Given the description of an element on the screen output the (x, y) to click on. 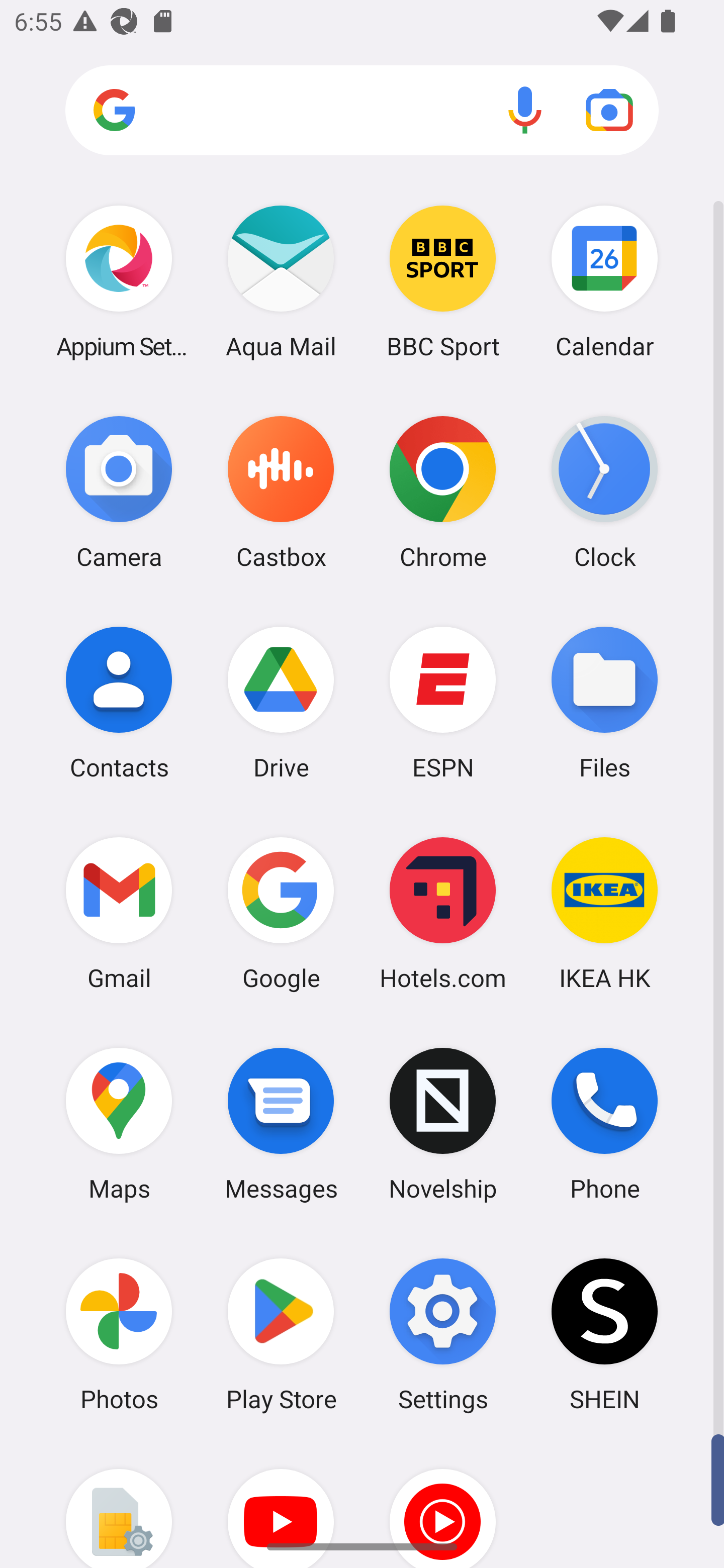
Search apps, web and more (361, 110)
Voice search (524, 109)
Google Lens (608, 109)
Appium Settings (118, 281)
Aqua Mail (280, 281)
BBC Sport (443, 281)
Calendar (604, 281)
Camera (118, 492)
Castbox (280, 492)
Chrome (443, 492)
Clock (604, 492)
Contacts (118, 702)
Drive (280, 702)
ESPN (443, 702)
Files (604, 702)
Gmail (118, 913)
Google (280, 913)
Hotels.com (443, 913)
IKEA HK (604, 913)
Maps (118, 1124)
Messages (280, 1124)
Novelship (443, 1124)
Phone (604, 1124)
Photos (118, 1334)
Play Store (280, 1334)
Settings (443, 1334)
SHEIN (604, 1334)
TMoble (118, 1503)
YouTube (280, 1503)
YT Music (443, 1503)
